Given the description of an element on the screen output the (x, y) to click on. 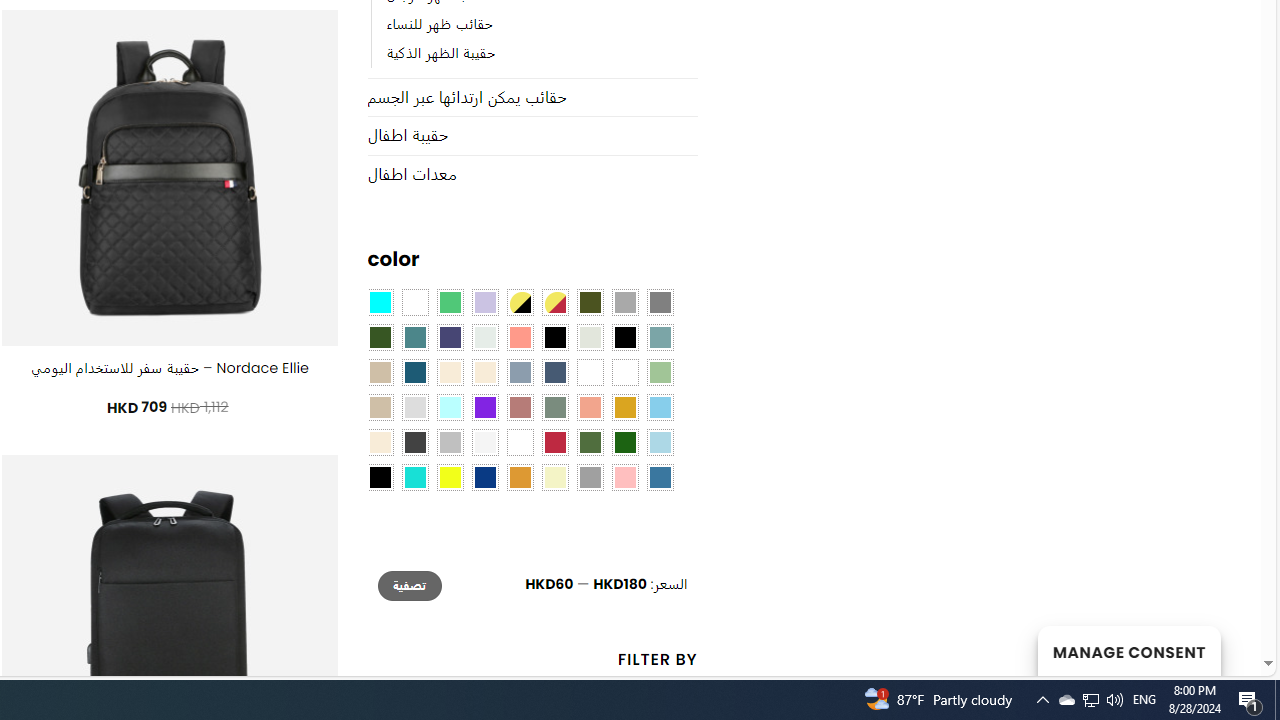
Brownie (379, 372)
Aqua Blue (379, 303)
Light Green (659, 372)
Yellow-Black (519, 303)
Ash Gray (589, 337)
MANAGE CONSENT (1128, 650)
Kelp (589, 372)
Caramel (449, 372)
